Given the description of an element on the screen output the (x, y) to click on. 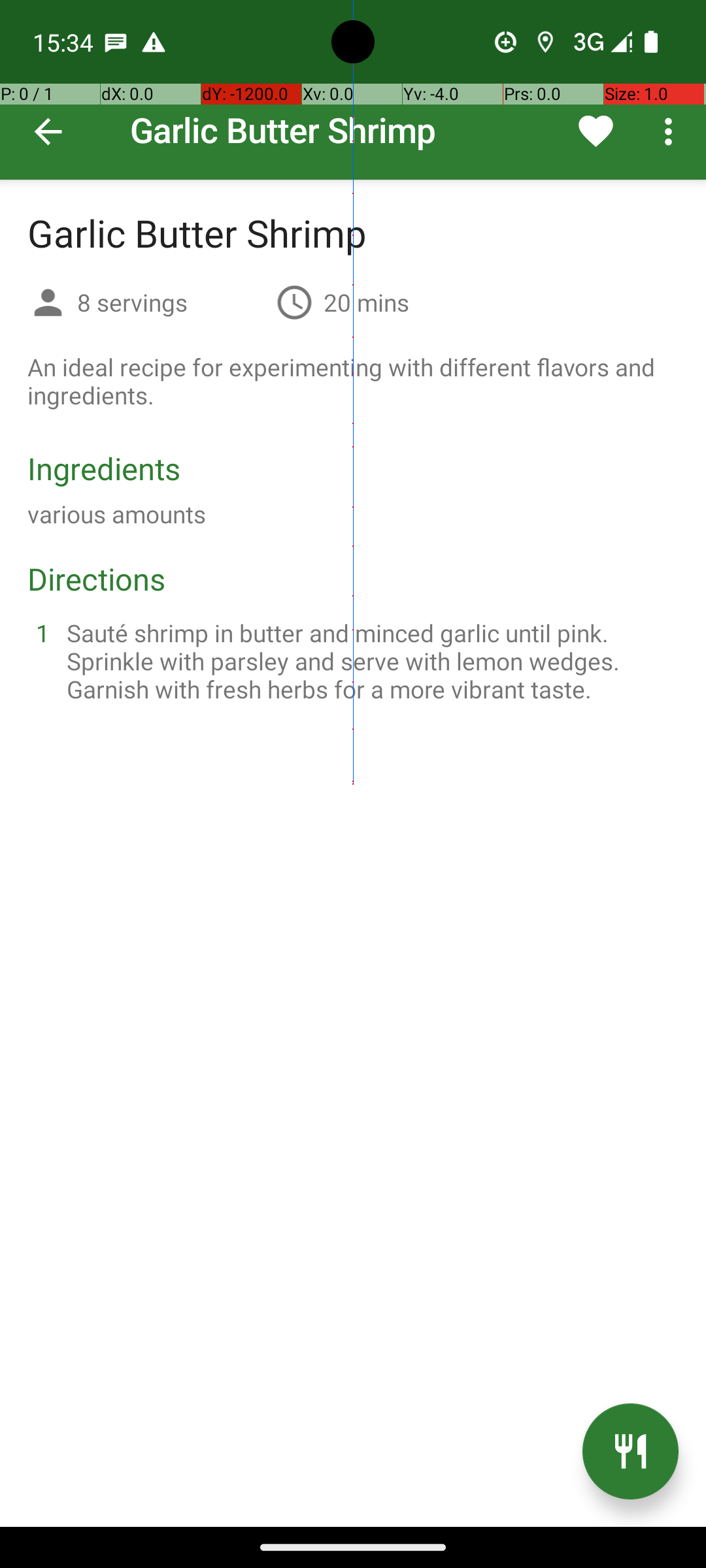
Garlic Butter Shrimp Element type: android.widget.FrameLayout (353, 89)
8 servings Element type: android.widget.TextView (170, 301)
20 mins Element type: android.widget.TextView (366, 301)
various amounts Element type: android.widget.TextView (116, 513)
Sauté shrimp in butter and minced garlic until pink. Sprinkle with parsley and serve with lemon wedges. Garnish with fresh herbs for a more vibrant taste. Element type: android.widget.TextView (368, 660)
